Given the description of an element on the screen output the (x, y) to click on. 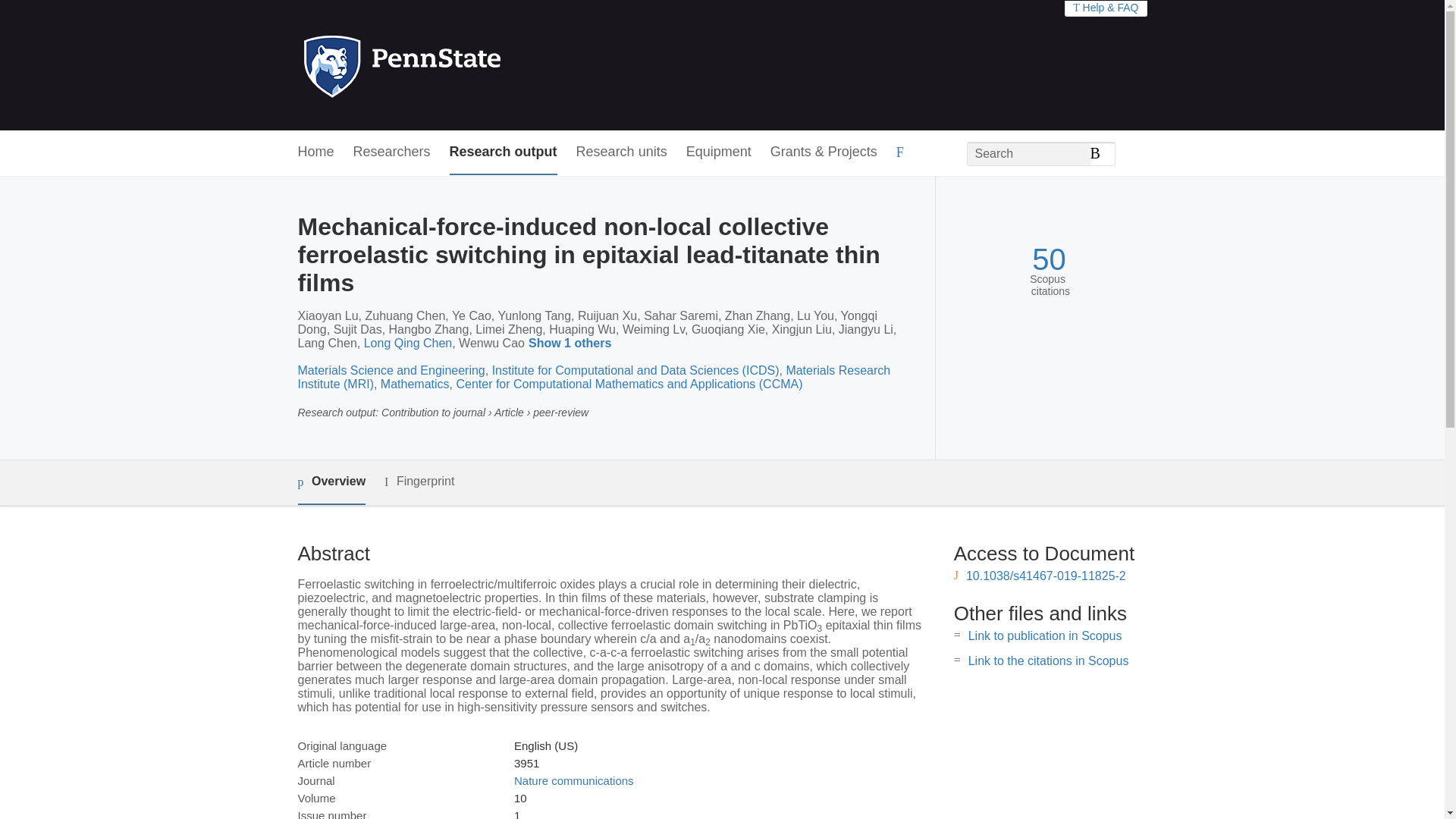
Equipment (718, 152)
Penn State Home (467, 65)
Show 1 others (572, 344)
50 (1048, 259)
Link to the citations in Scopus (1048, 660)
Fingerprint (419, 481)
Materials Science and Engineering (390, 369)
Nature communications (573, 780)
Overview (331, 482)
